Given the description of an element on the screen output the (x, y) to click on. 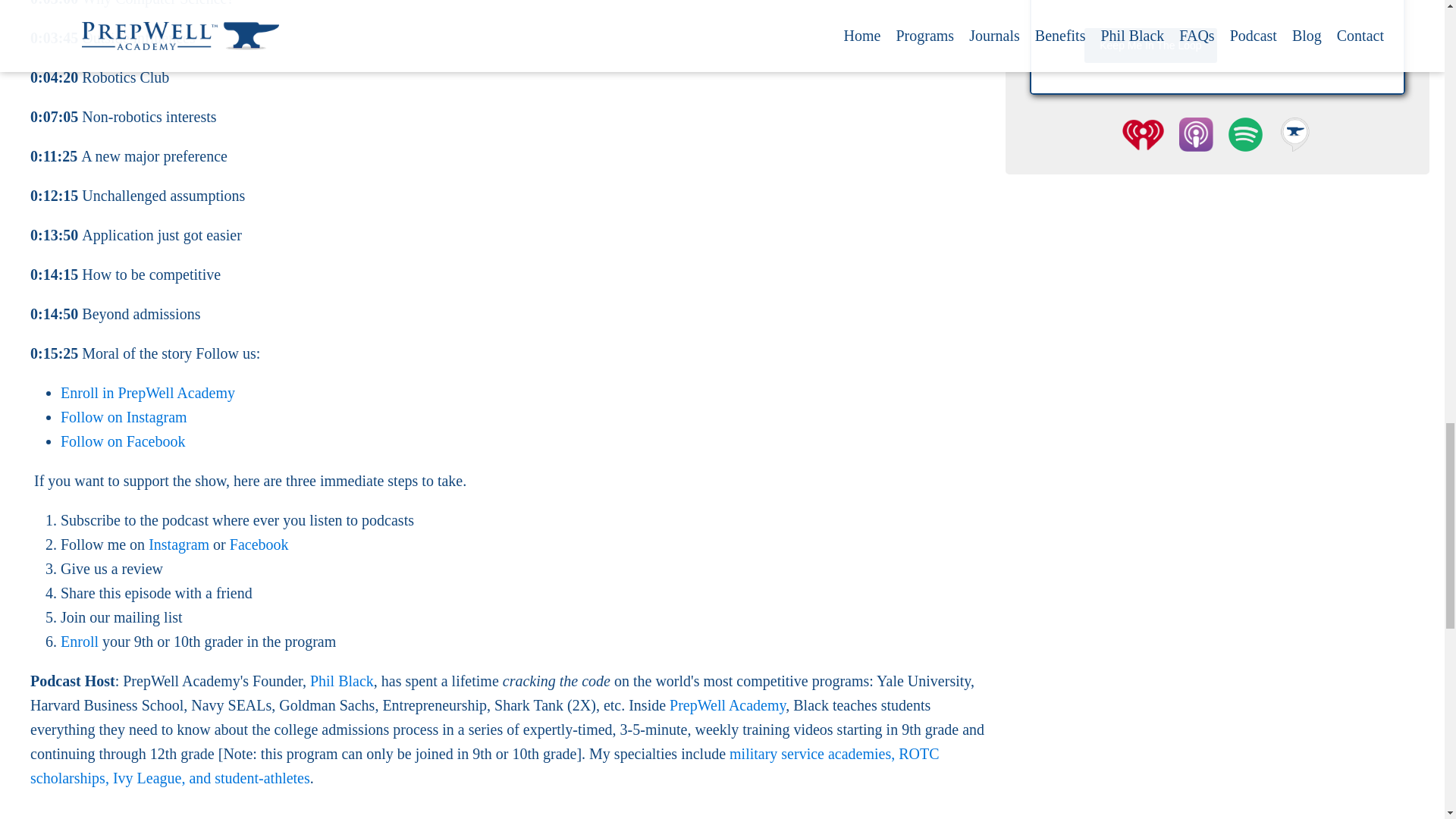
Phil Black (342, 680)
PrepWell Academy (727, 704)
Follow on Instagram (124, 416)
Follow on Facebook (122, 441)
Instagram (178, 544)
Facebook (259, 544)
Enroll (80, 641)
Enroll in PrepWell Academy (147, 392)
